Given the description of an element on the screen output the (x, y) to click on. 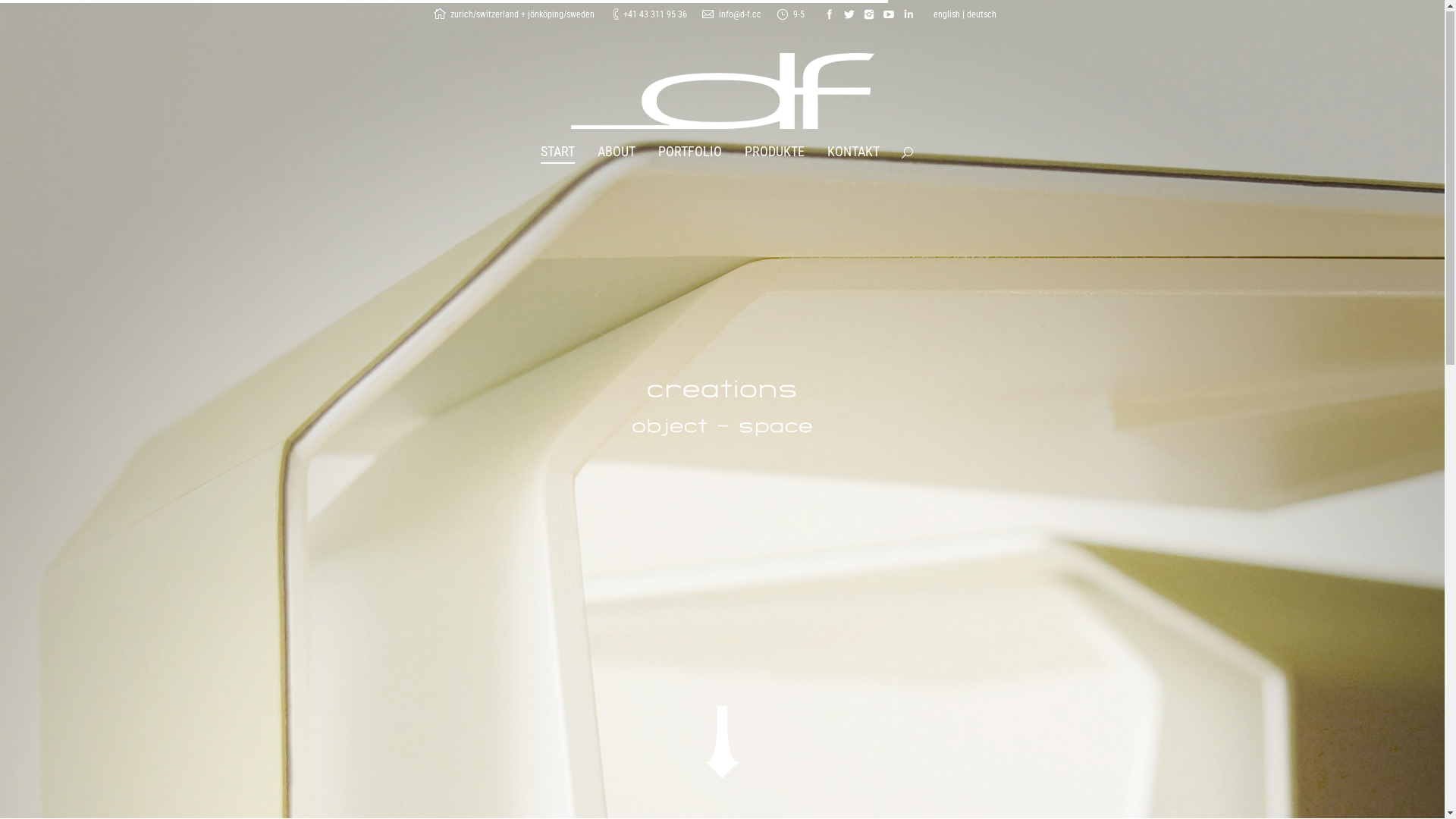
  Element type: text (907, 154)
START Element type: text (557, 153)
KONTAKT Element type: text (853, 153)
Instagram Element type: hover (867, 14)
PORTFOLIO Element type: text (689, 153)
Twitter Element type: hover (848, 14)
Go! Element type: text (738, 397)
deutsch Element type: text (980, 14)
Facebook Element type: hover (828, 14)
ABOUT Element type: text (616, 153)
YouTube Element type: hover (887, 14)
Linkedin Element type: hover (907, 14)
PRODUKTE Element type: text (774, 153)
english Element type: text (945, 14)
Go! Element type: text (17, 14)
